Given the description of an element on the screen output the (x, y) to click on. 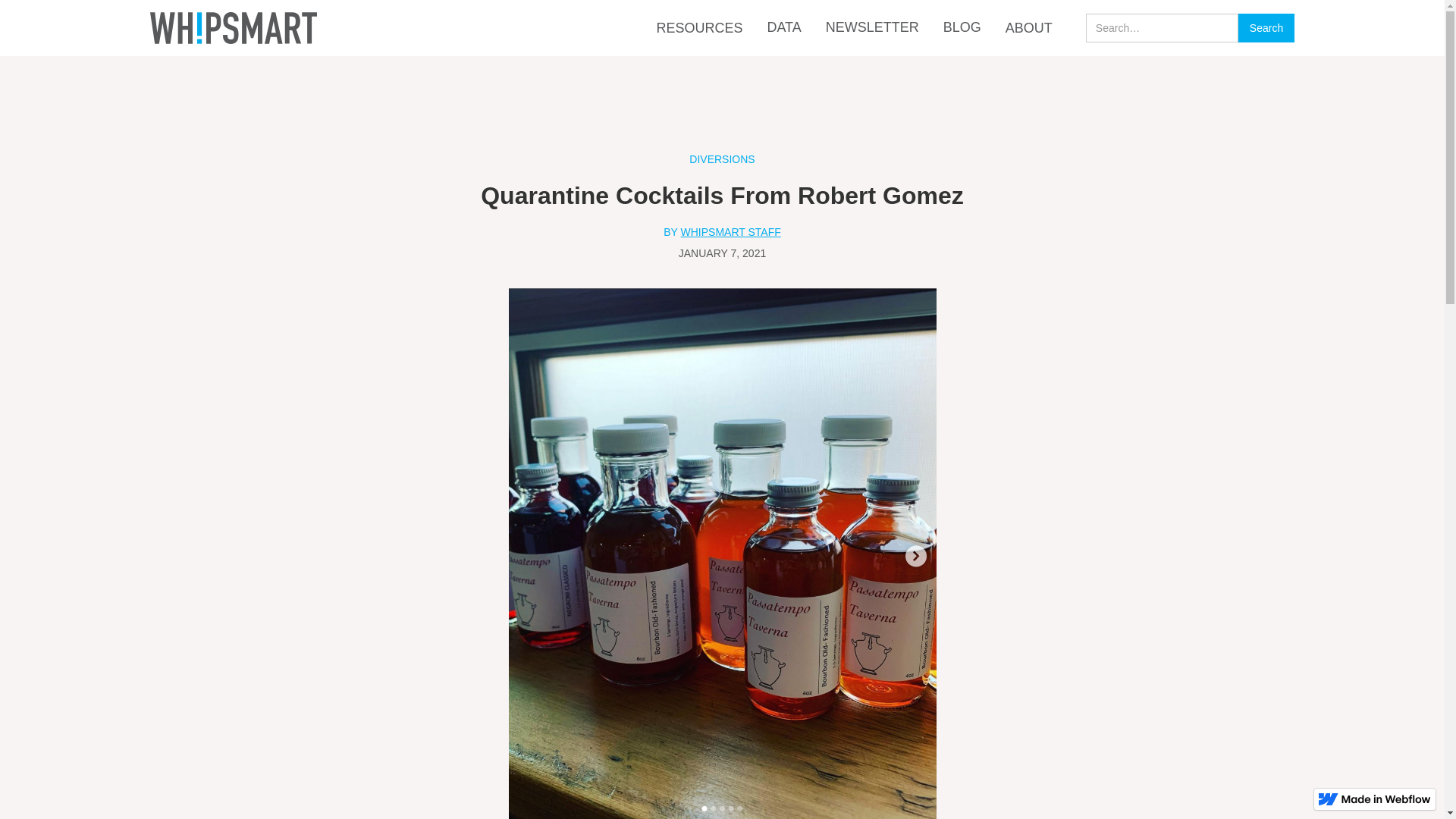
Search (1266, 27)
Search (1266, 27)
DATA (783, 27)
NEWSLETTER (871, 27)
WHIPSMART STAFF (730, 234)
RESOURCES (699, 28)
BLOG (962, 27)
ABOUT (1029, 28)
Search (1266, 27)
